Given the description of an element on the screen output the (x, y) to click on. 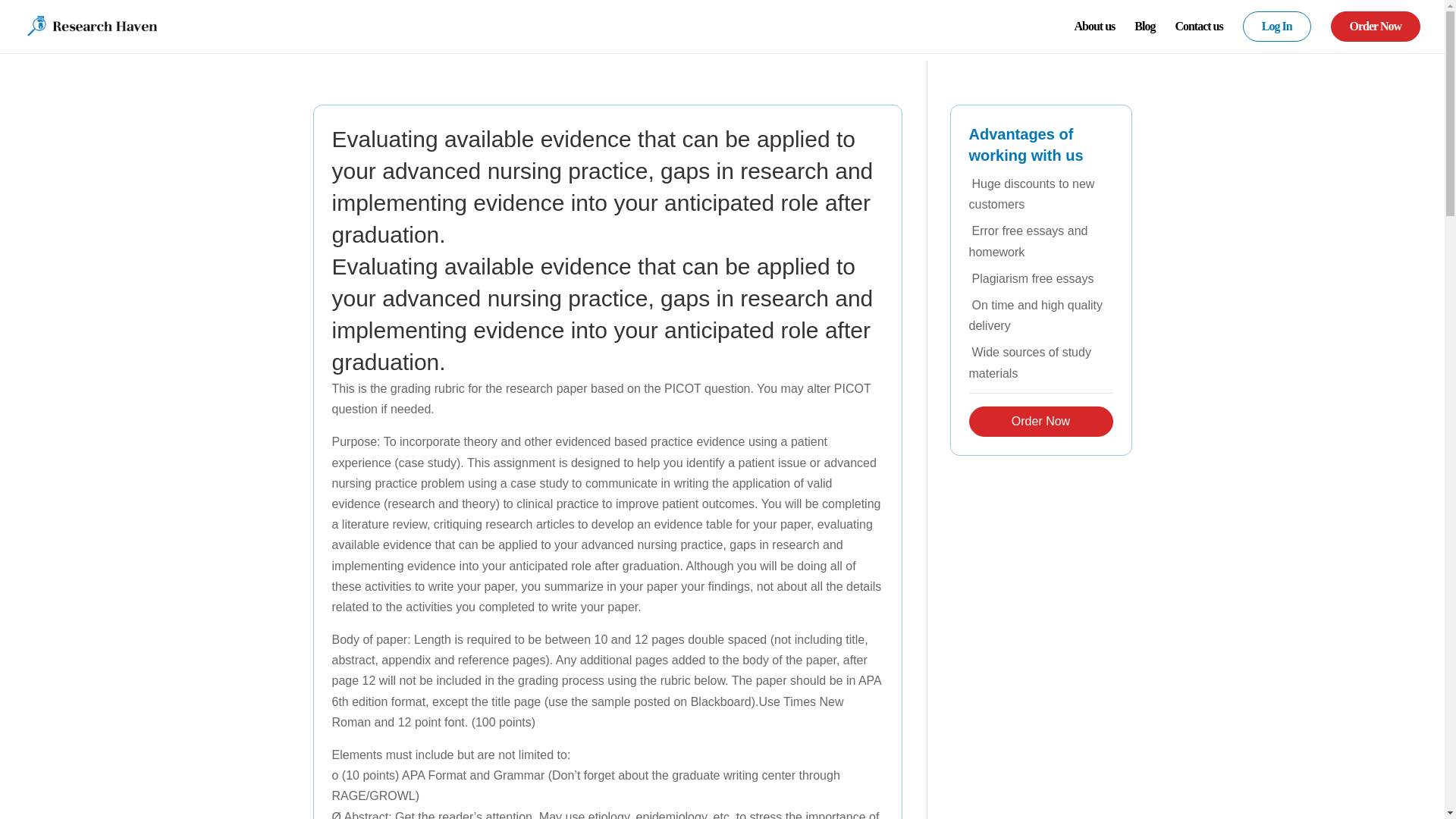
Log In (1277, 32)
Contact us (1198, 32)
Blog (1144, 32)
Order Now (1375, 32)
About us (1094, 32)
Order Now (1041, 421)
